Given the description of an element on the screen output the (x, y) to click on. 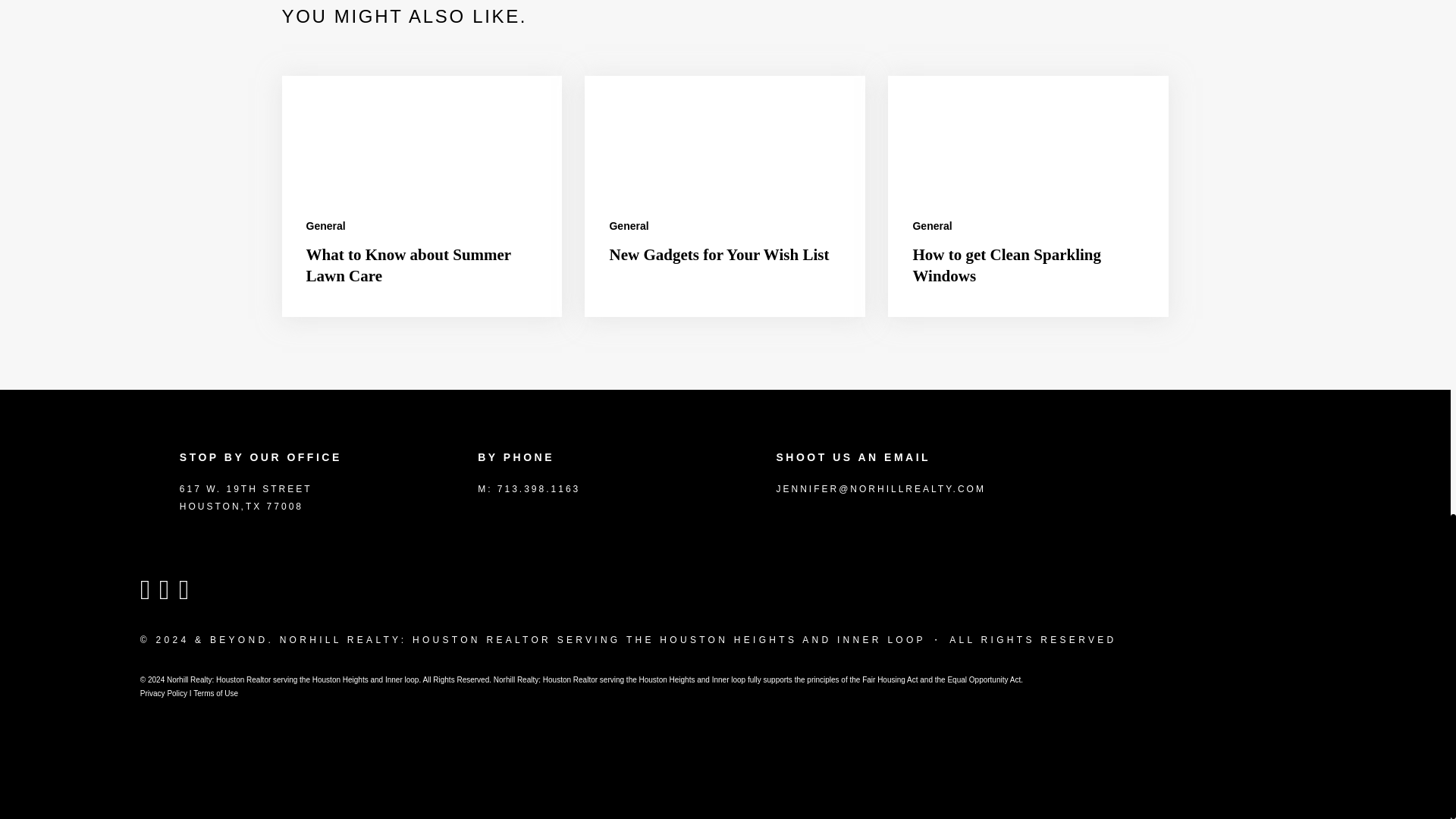
General (325, 225)
General (932, 225)
General (627, 225)
